Given the description of an element on the screen output the (x, y) to click on. 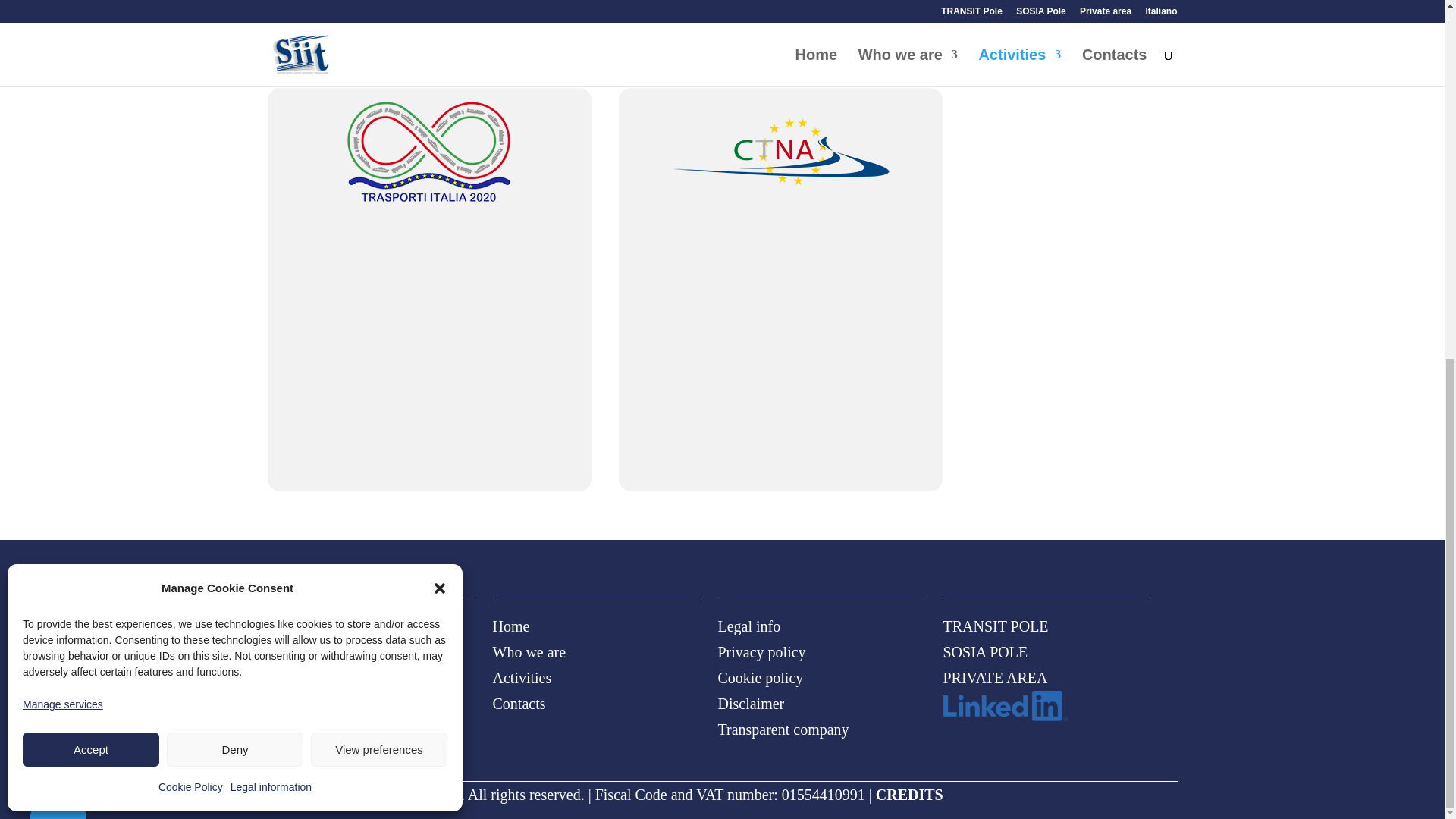
Manage services (63, 67)
Cookie Policy (190, 149)
Legal information (270, 149)
Accept (90, 112)
Deny (234, 112)
View preferences (378, 112)
